Given the description of an element on the screen output the (x, y) to click on. 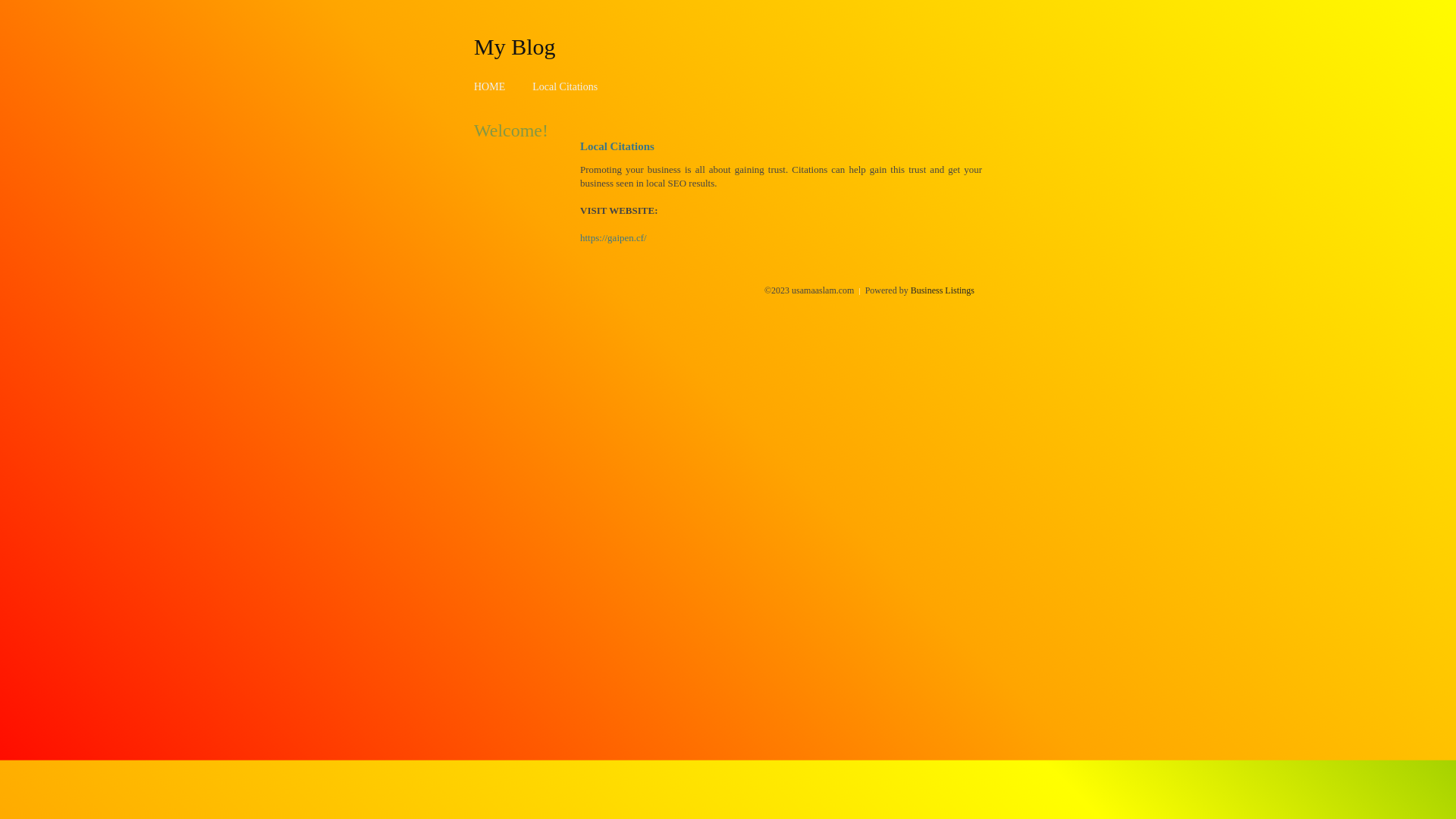
https://gaipen.cf/ Element type: text (613, 237)
My Blog Element type: text (514, 46)
Local Citations Element type: text (564, 86)
HOME Element type: text (489, 86)
Business Listings Element type: text (942, 290)
